Given the description of an element on the screen output the (x, y) to click on. 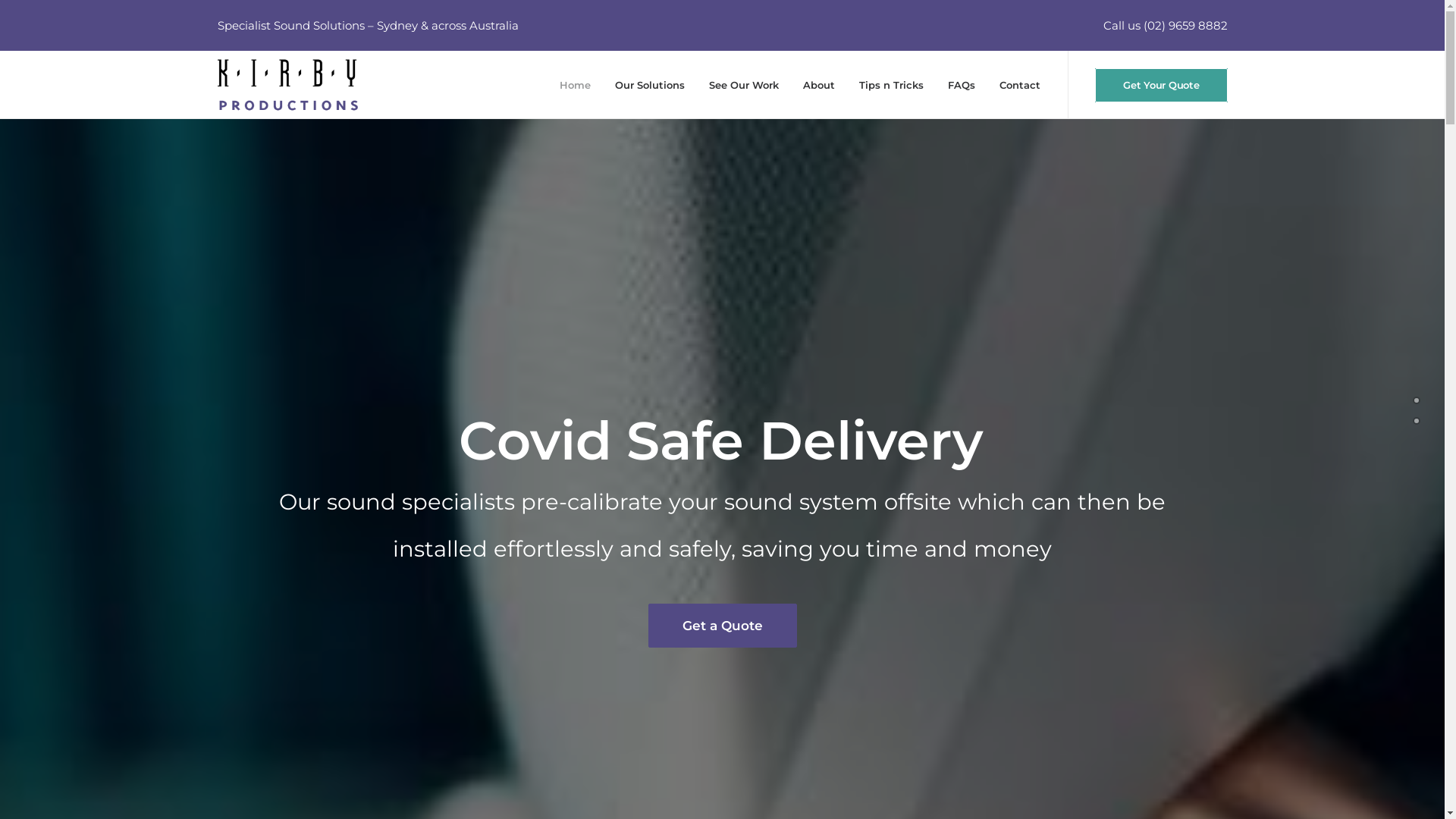
Contact Element type: text (1014, 84)
Home Element type: text (575, 84)
Get Your Quote Element type: text (1160, 85)
FAQs Element type: text (961, 84)
About Element type: text (818, 84)
Tips n Tricks Element type: text (891, 84)
Our Solutions Element type: text (649, 84)
Call us (02) 9659 8882 Element type: text (1164, 25)
Get a Quote Element type: text (721, 639)
See Our Work Element type: text (743, 84)
